Given the description of an element on the screen output the (x, y) to click on. 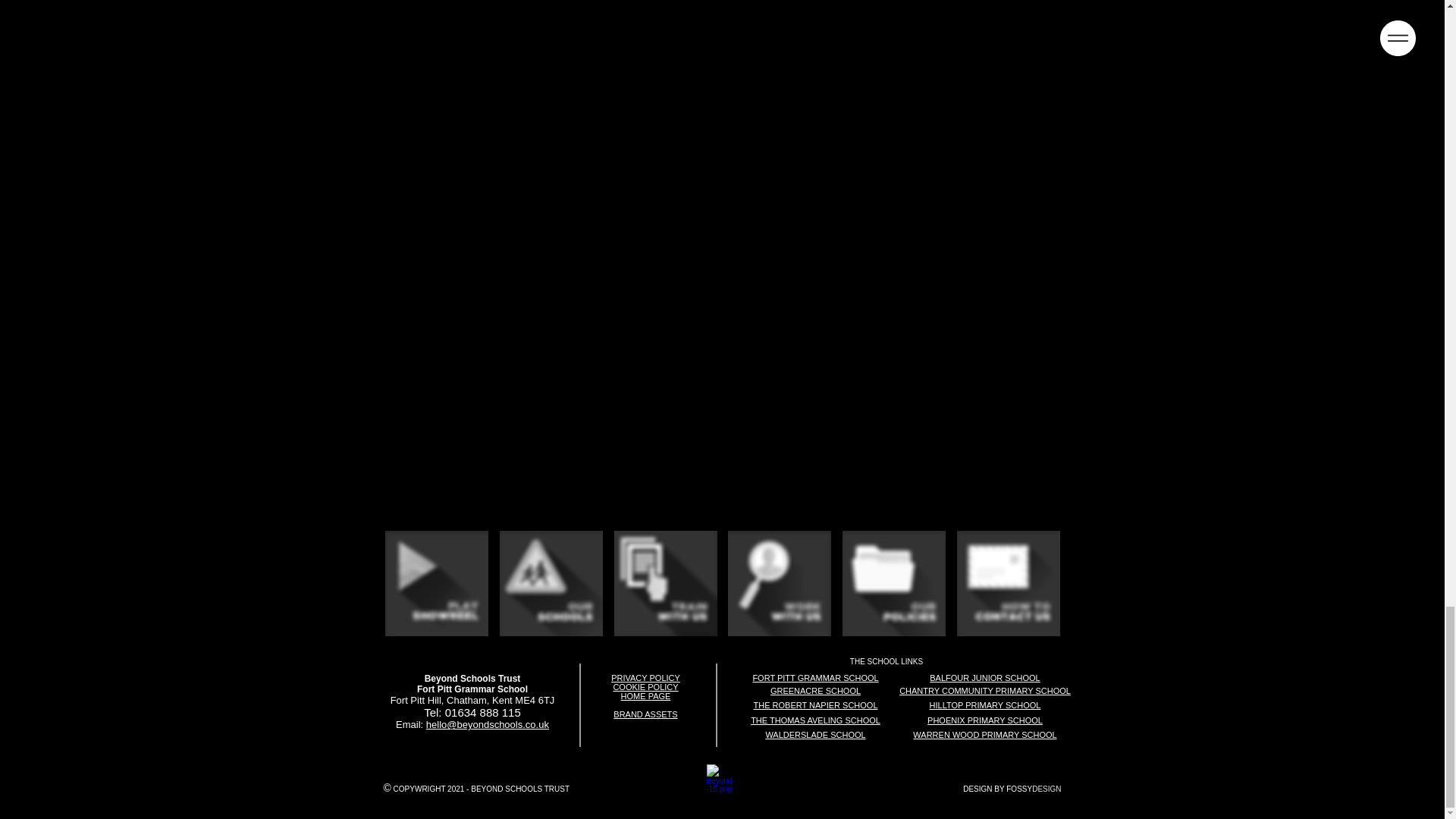
HILLTOP PRIMARY SCHOOL (985, 704)
FORT PITT GRAMMAR SCHOOL (814, 678)
WALDERSLADE SCHOOL (814, 734)
BRAND ASSETS (644, 714)
COOKIE POLICY (645, 686)
WARREN WOOD PRIMARY SCHOOL (984, 734)
DESIGN (1046, 788)
THE THOMAS AVELING SCHOOL (815, 719)
DESIGN BY FOSSY (997, 788)
PHOENIX PRIMARY SCHOOL (984, 719)
